Given the description of an element on the screen output the (x, y) to click on. 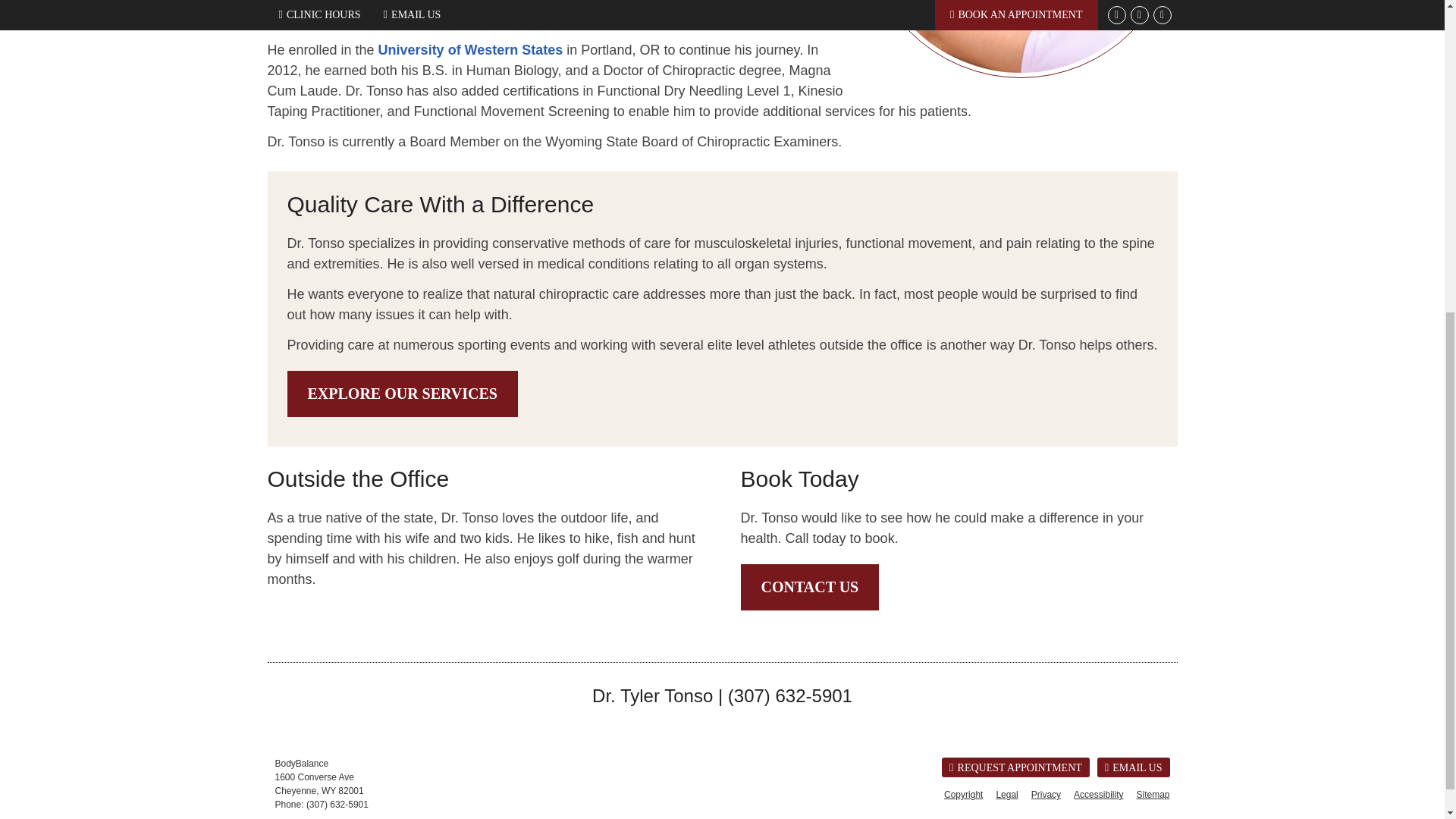
University of Western States (470, 49)
EXPLORE OUR SERVICES (401, 393)
Footer Links (1053, 793)
Contact (1133, 767)
CONTACT US (809, 587)
University of Wyoming (340, 3)
